Given the description of an element on the screen output the (x, y) to click on. 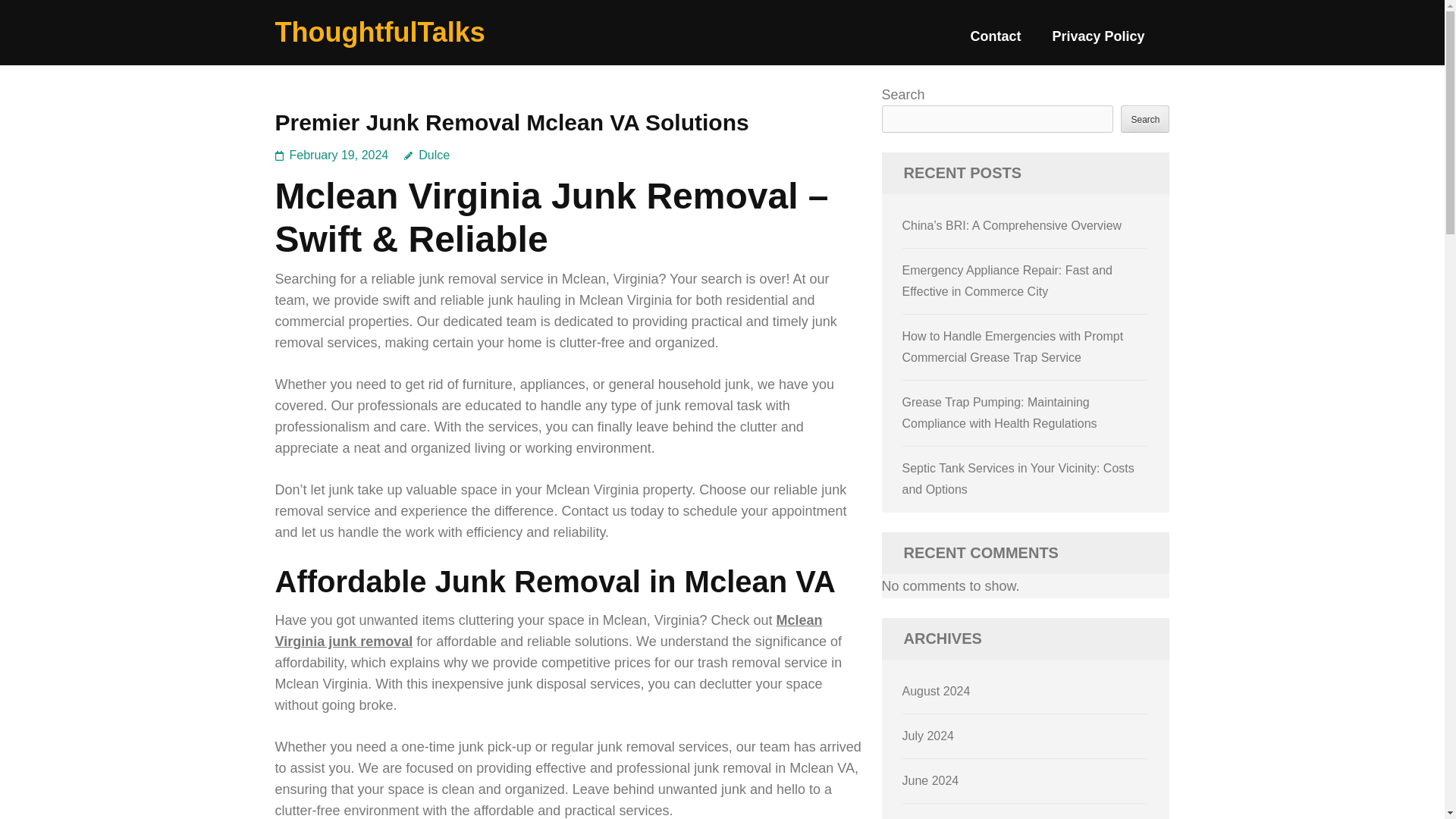
Dulce (426, 154)
July 2024 (928, 735)
Search (1145, 118)
ThoughtfulTalks (379, 31)
Mclean Virginia junk removal (548, 630)
June 2024 (930, 780)
August 2024 (936, 690)
Contact (994, 42)
